Given the description of an element on the screen output the (x, y) to click on. 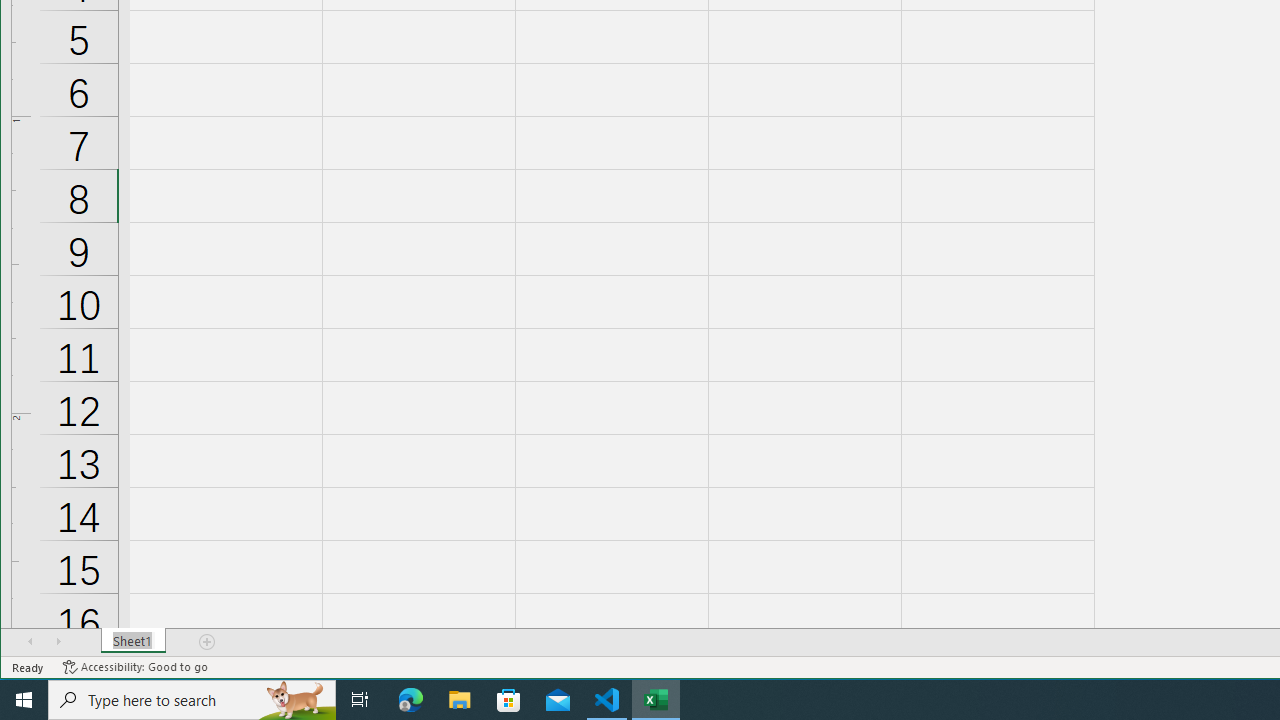
File Explorer (460, 699)
Start (24, 699)
Search highlights icon opens search home window (295, 699)
Microsoft Edge (411, 699)
Visual Studio Code - 1 running window (607, 699)
Sheet Tab (133, 641)
Excel - 1 running window (656, 699)
Task View (359, 699)
Microsoft Store (509, 699)
